Given the description of an element on the screen output the (x, y) to click on. 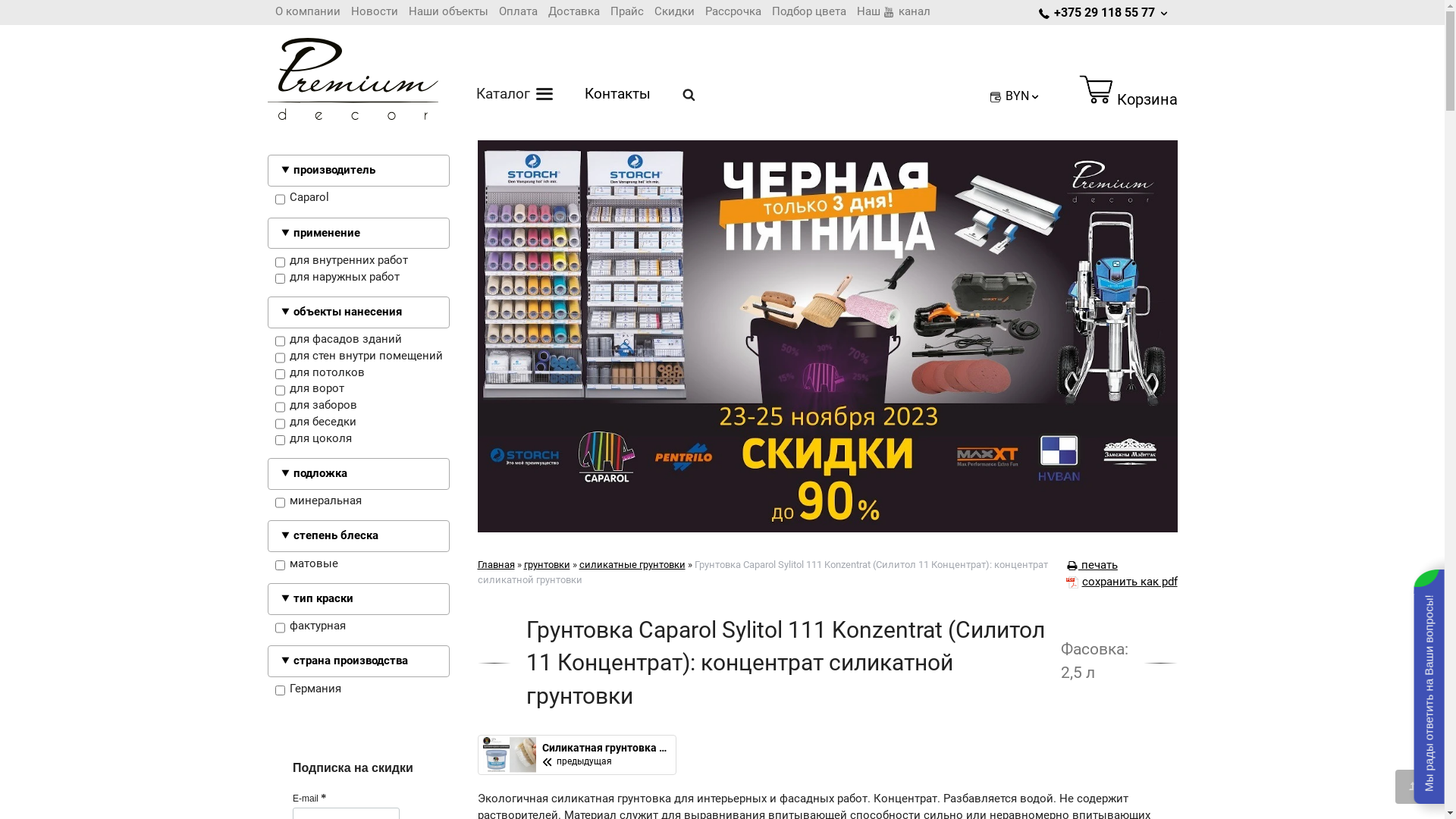
+375 29 118 55 77 Element type: text (1104, 12)
BYN Element type: text (1015, 95)
